Given the description of an element on the screen output the (x, y) to click on. 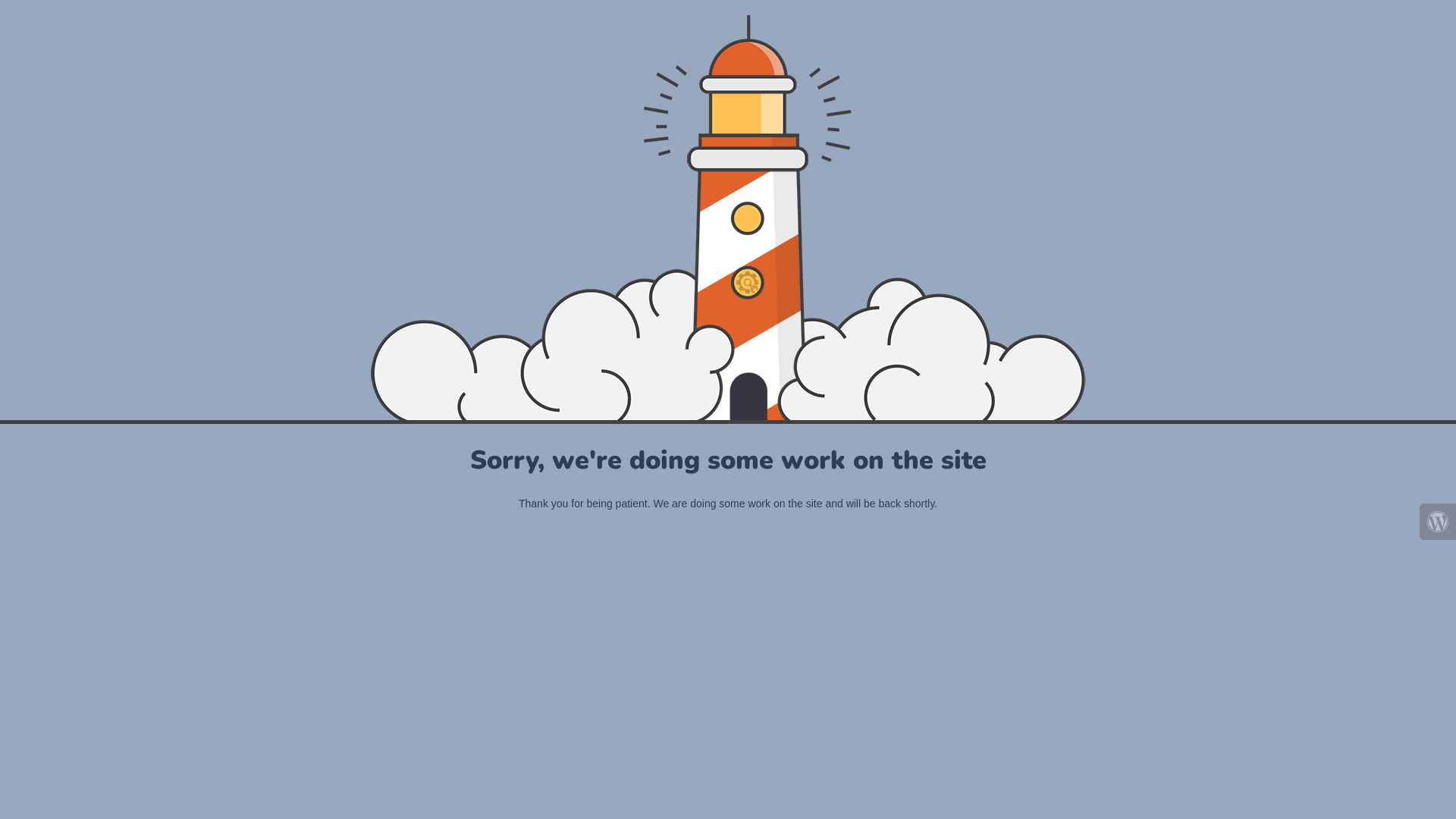
Lighthouse Element type: hover (727, 217)
